Given the description of an element on the screen output the (x, y) to click on. 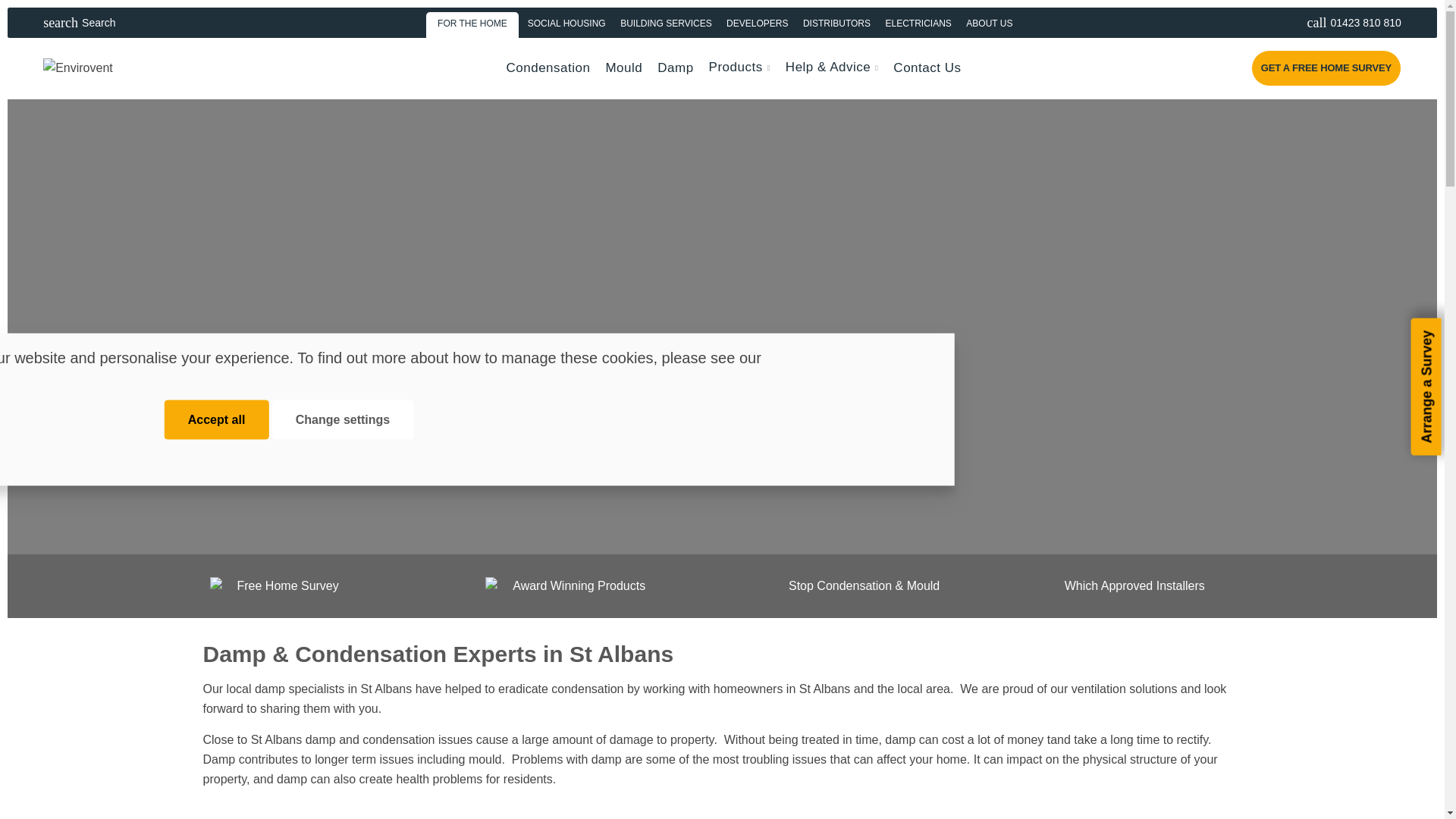
Change settings (342, 419)
Condensation (548, 67)
SOCIAL HOUSING (566, 22)
Damp (674, 67)
Accept all (216, 419)
Products (739, 67)
DISTRIBUTORS (836, 22)
FOR THE HOME (100, 22)
BUILDING SERVICES (472, 22)
ELECTRICIANS (665, 22)
ABOUT US (918, 22)
Mould (988, 22)
DEVELOPERS (1343, 22)
